Given the description of an element on the screen output the (x, y) to click on. 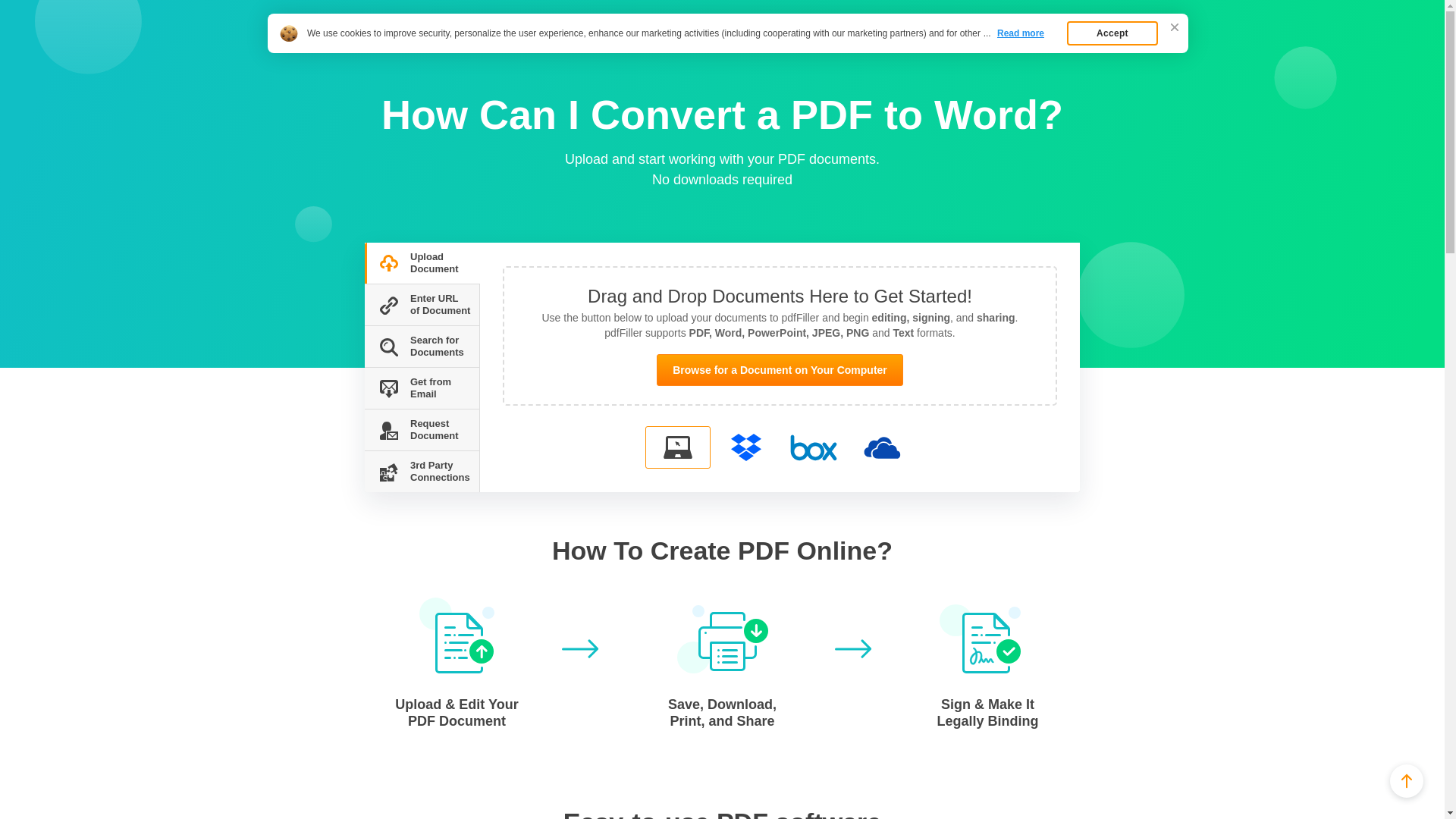
Home (361, 46)
Create Editable PDF (412, 21)
Scroll Up (1406, 780)
FAQ (398, 46)
